Given the description of an element on the screen output the (x, y) to click on. 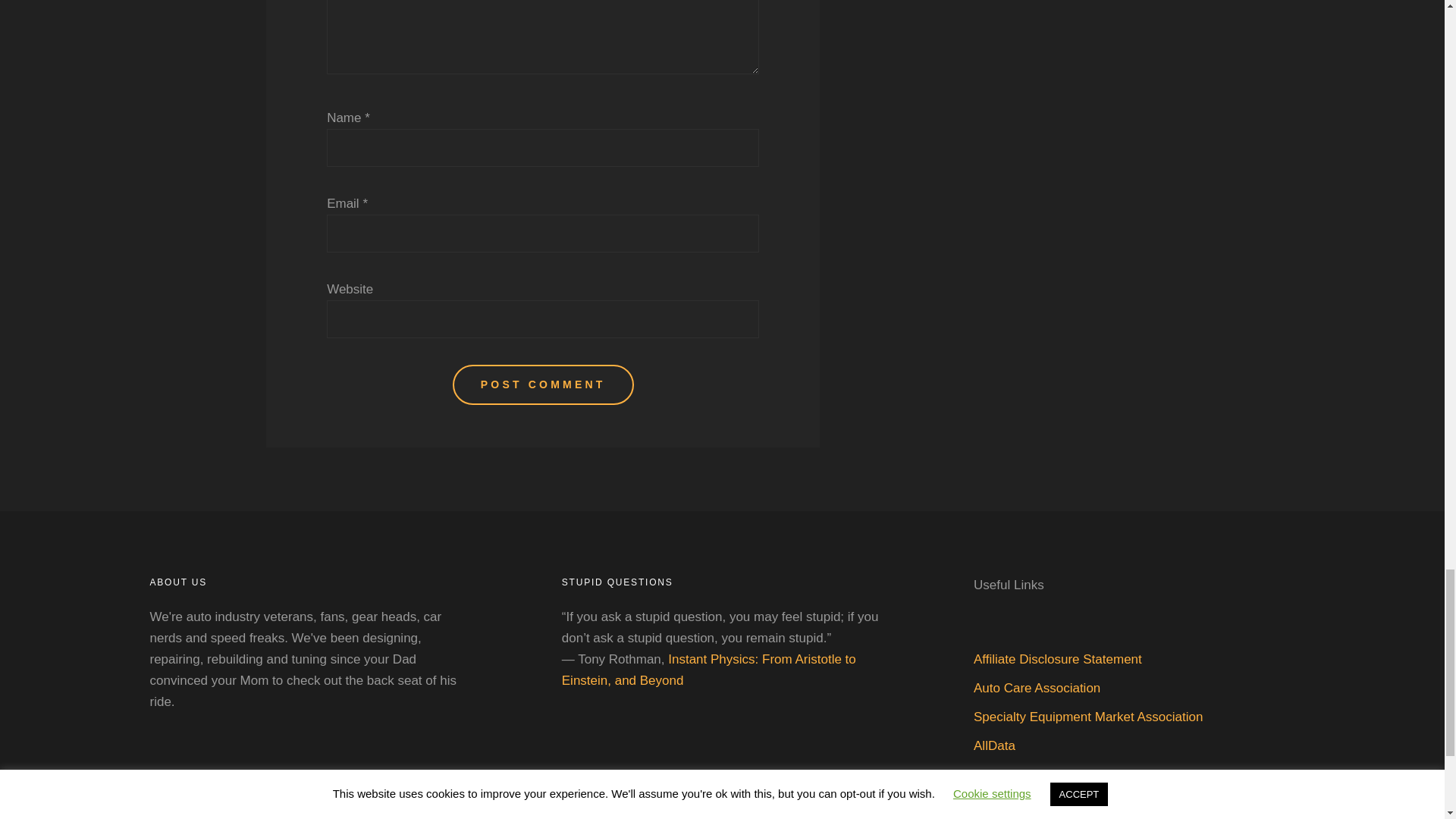
Performance Racing Industry Show (1075, 774)
Post Comment (542, 384)
Post Comment (542, 384)
AllData (994, 745)
Affiliate Disclosure Statement (1057, 658)
Specialty Equipment Market Association (1088, 716)
Auto Care Association (1037, 687)
Instant Physics: From Aristotle to Einstein, and Beyond (709, 669)
The Performance Racing Industry Official Site (1104, 803)
